Given the description of an element on the screen output the (x, y) to click on. 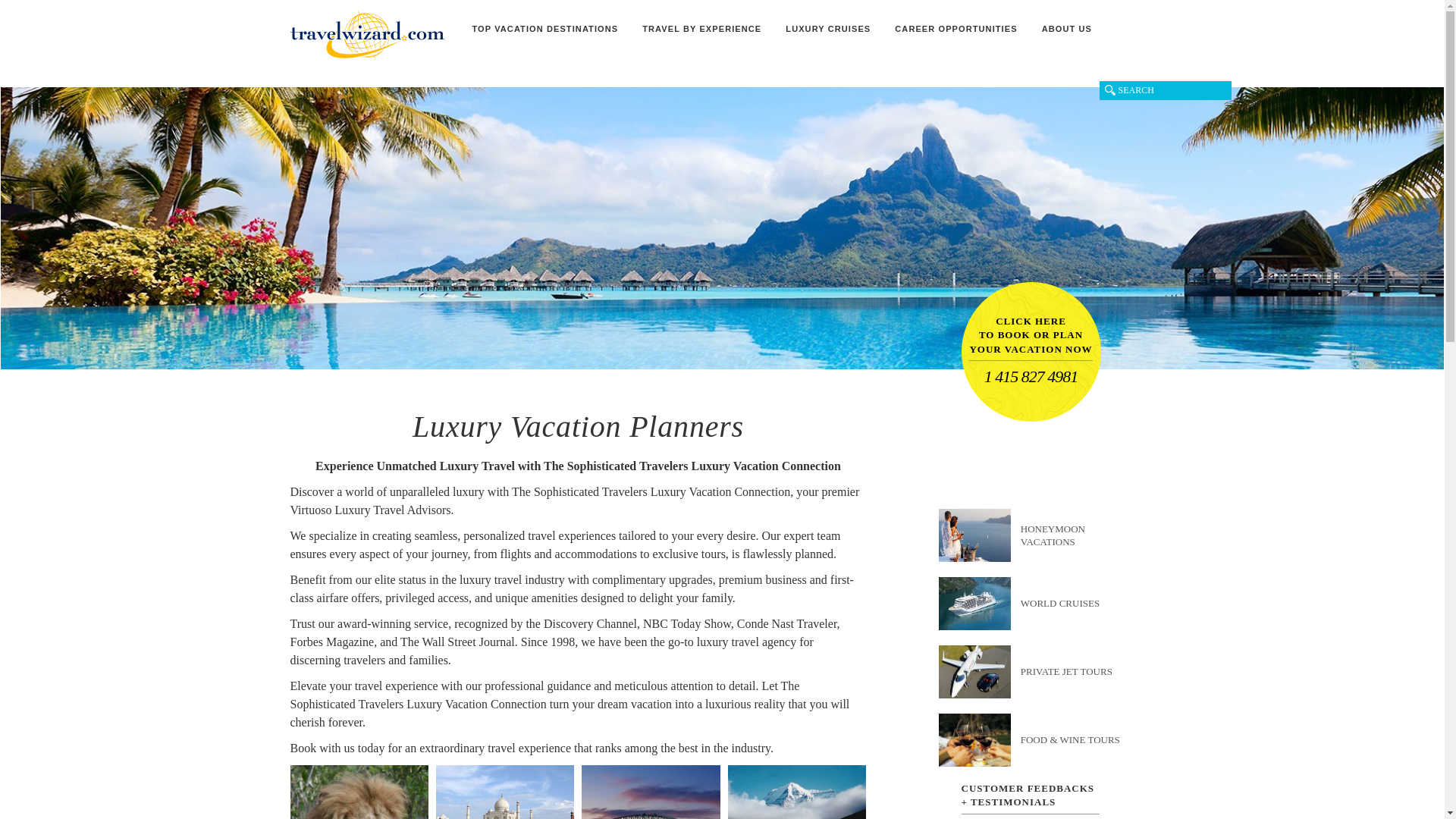
HONEYMOON VACATIONS (1046, 534)
CAREER OPPORTUNITIES (955, 36)
LUXURY CRUISES (827, 36)
Travel Wizard (366, 34)
TRAVEL BY EXPERIENCE (701, 36)
ABOUT US (1066, 36)
WORLD CRUISES (1046, 603)
PRIVATE JET TOURS (1046, 671)
TOP VACATION DESTINATIONS (545, 36)
